Given the description of an element on the screen output the (x, y) to click on. 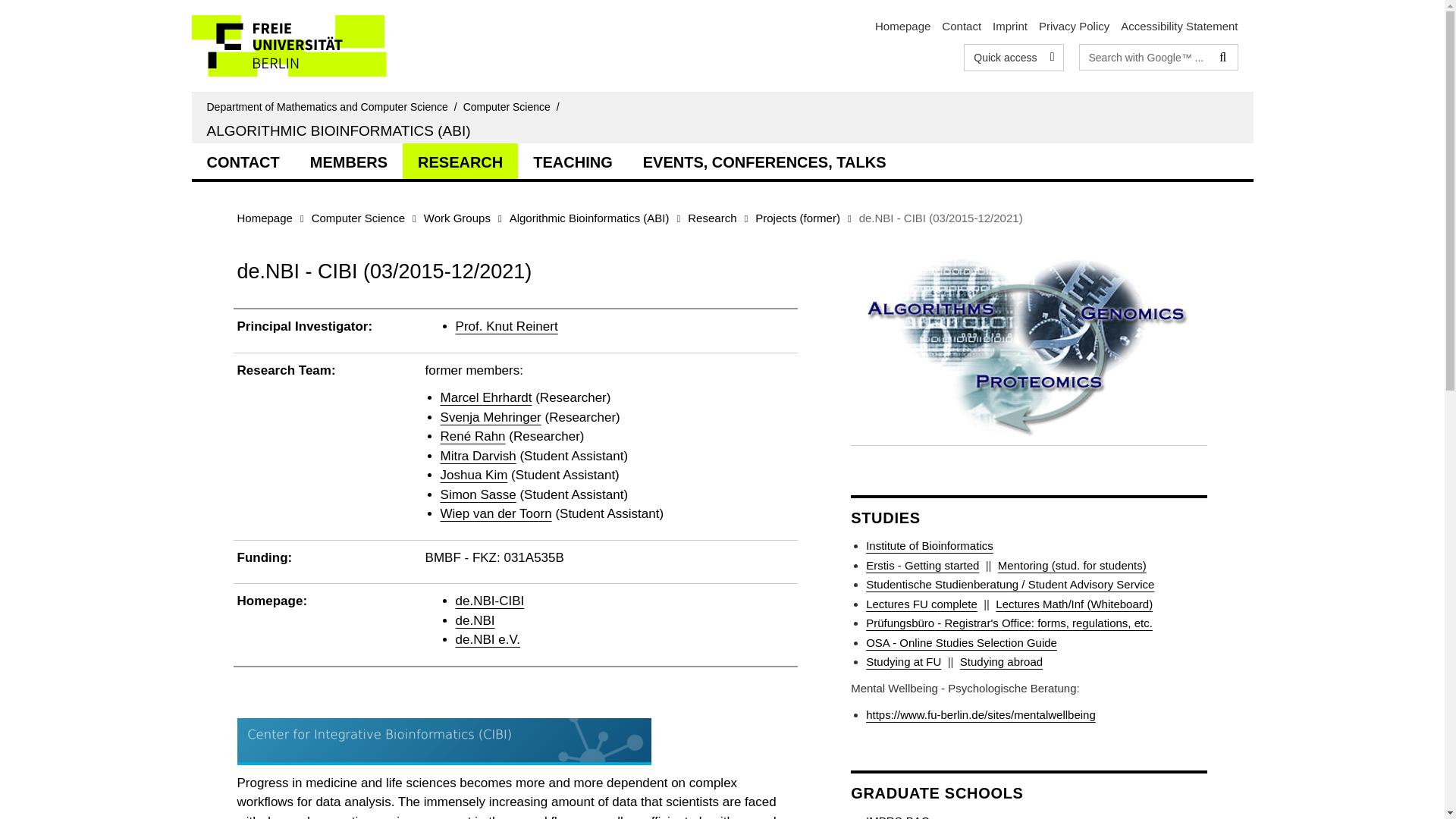
Imprint (1009, 25)
Contact (961, 25)
Accessibility Statement (1179, 25)
Homepage (902, 25)
Privacy Policy (1074, 25)
